Given the description of an element on the screen output the (x, y) to click on. 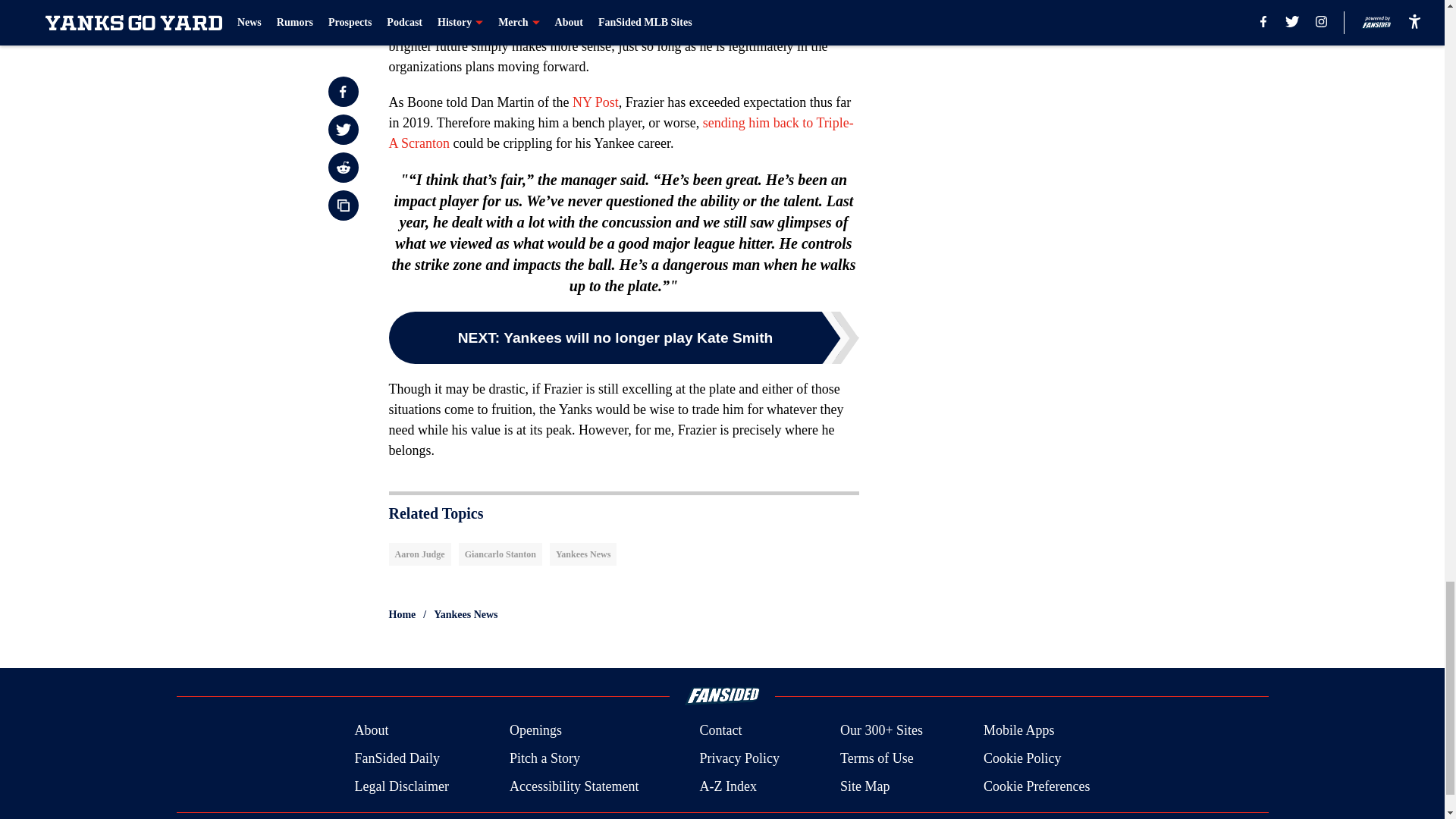
NEXT: Yankees will no longer play Kate Smith (623, 337)
Yankees News (582, 553)
Giancarlo Stanton (499, 553)
sending him back to Triple-A Scranton (620, 132)
NY Post (595, 102)
Aaron Judge (418, 553)
Home (401, 614)
Yankees News (465, 614)
